Given the description of an element on the screen output the (x, y) to click on. 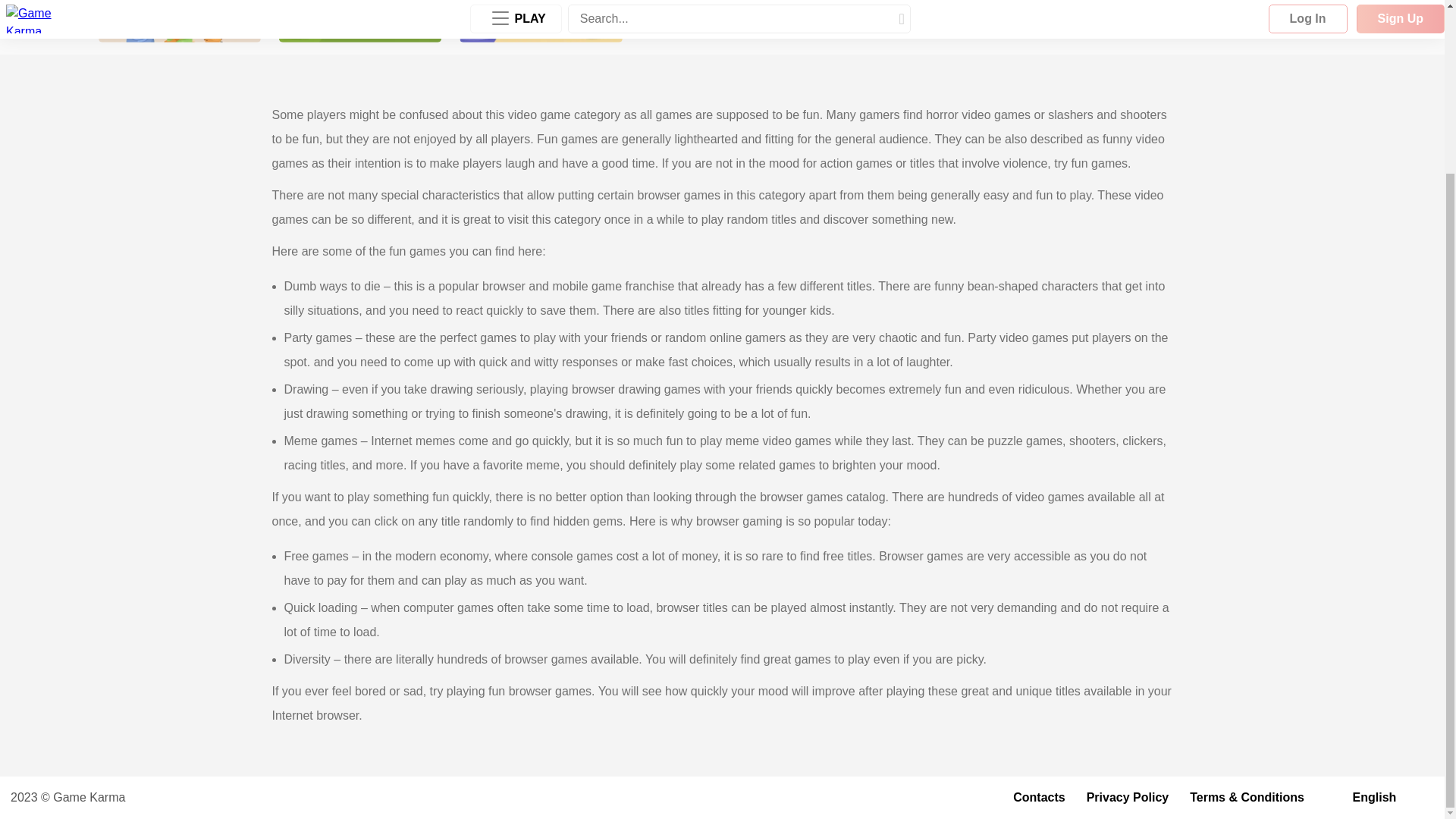
Dumb Ways To Die 3 World Tour (540, 21)
Dumb Ways JR Zanys Hospital (179, 21)
Dumb Ways To Die 2: The Games (360, 21)
